Given the description of an element on the screen output the (x, y) to click on. 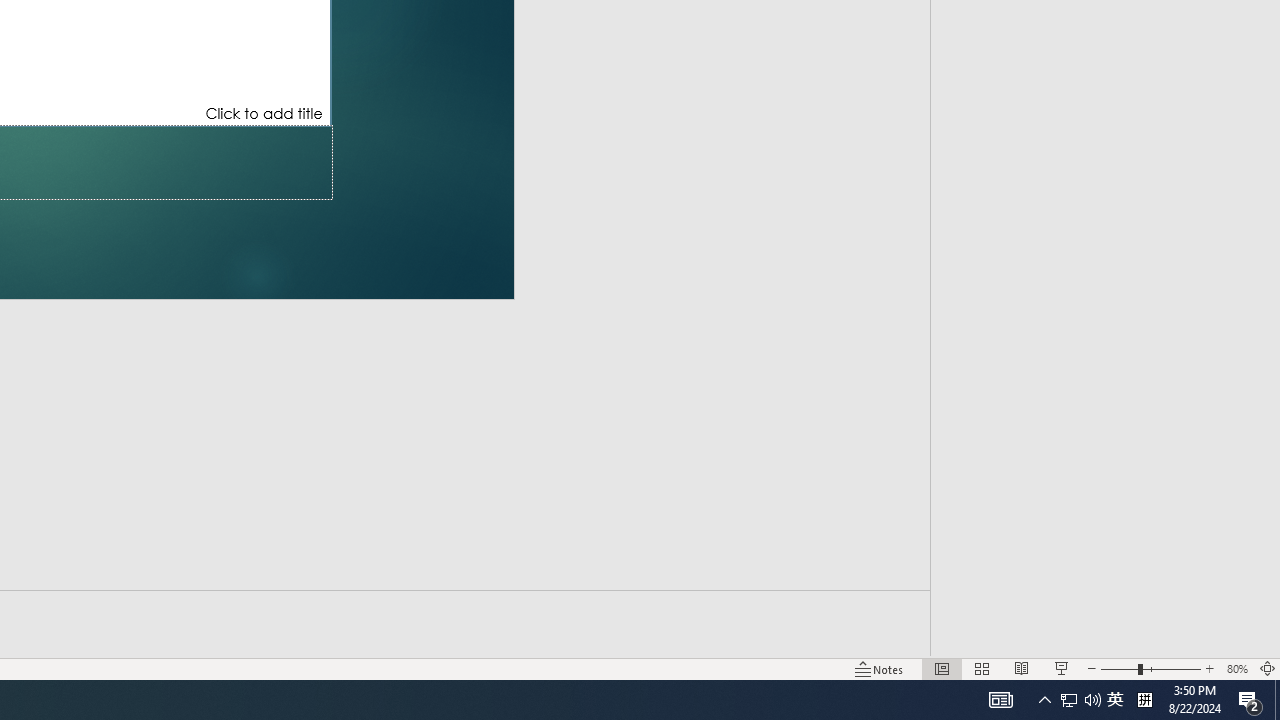
Zoom 80% (1236, 668)
